Given the description of an element on the screen output the (x, y) to click on. 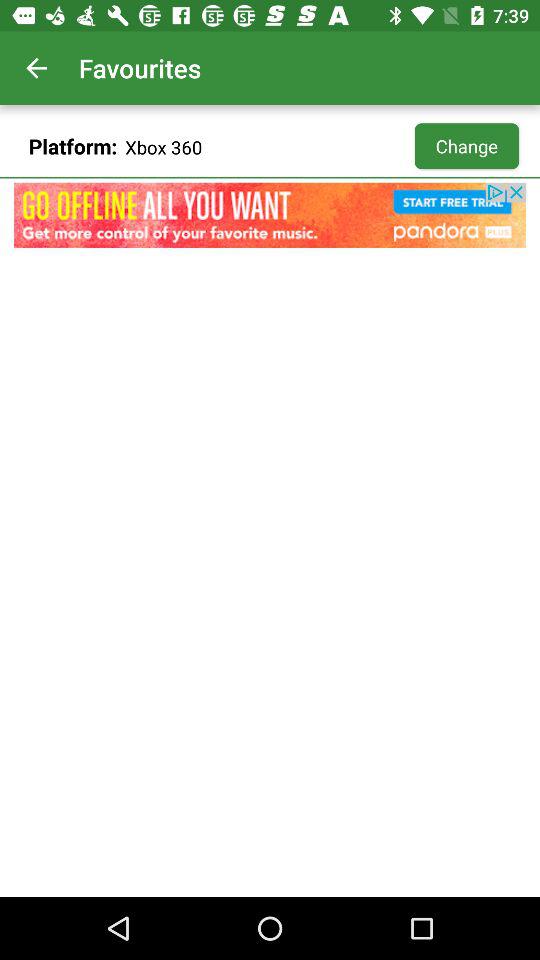
advertisement (270, 215)
